Given the description of an element on the screen output the (x, y) to click on. 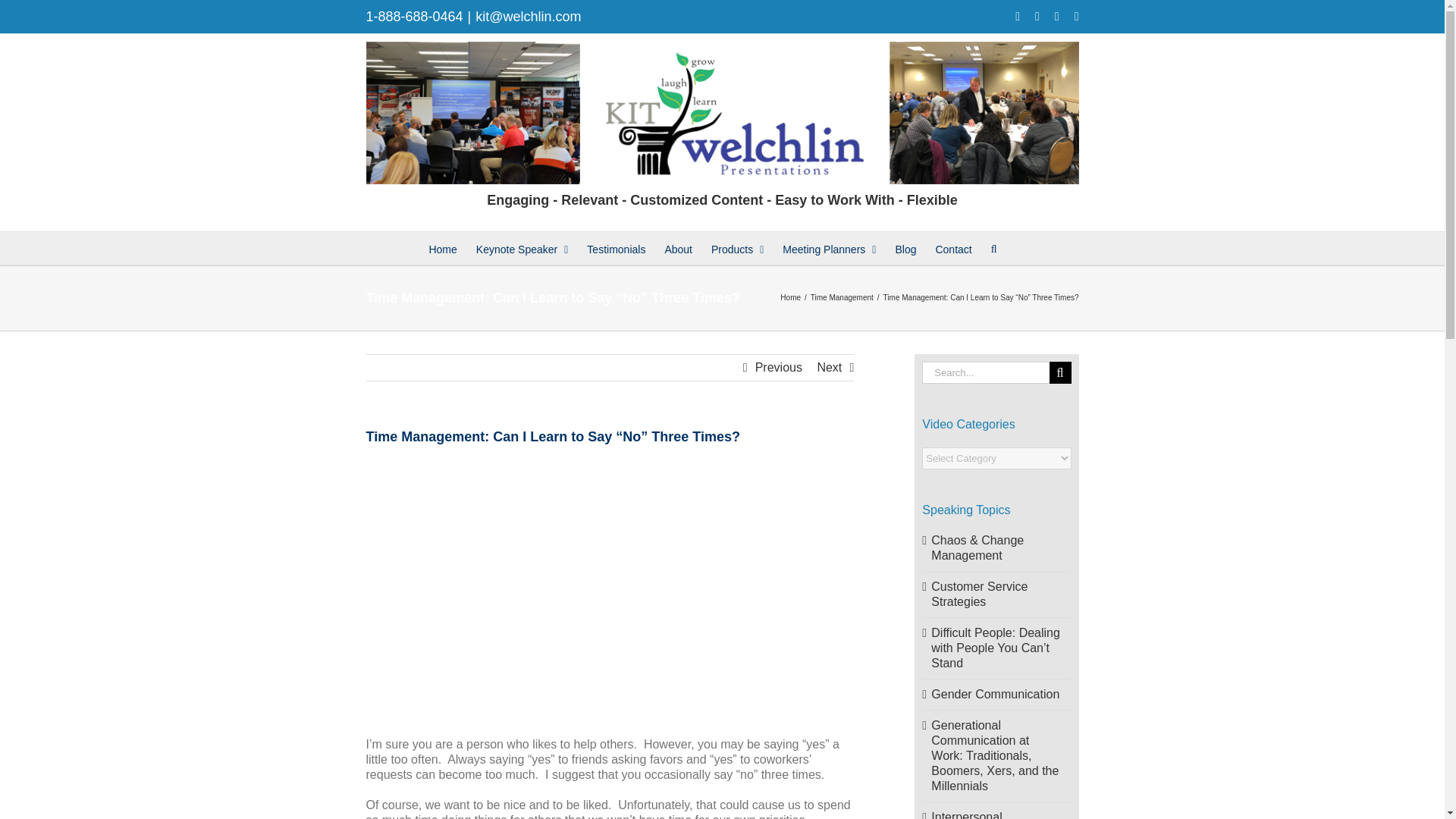
X (1037, 16)
Facebook (1017, 16)
LinkedIn (1076, 16)
Meeting Planners (829, 247)
Search (994, 247)
Contact (952, 247)
Home (442, 247)
Keynote Speaker (522, 247)
Previous (778, 367)
YouTube (1056, 16)
Blog (905, 247)
Facebook (1017, 16)
YouTube (1056, 16)
Next (828, 367)
LinkedIn (1076, 16)
